Given the description of an element on the screen output the (x, y) to click on. 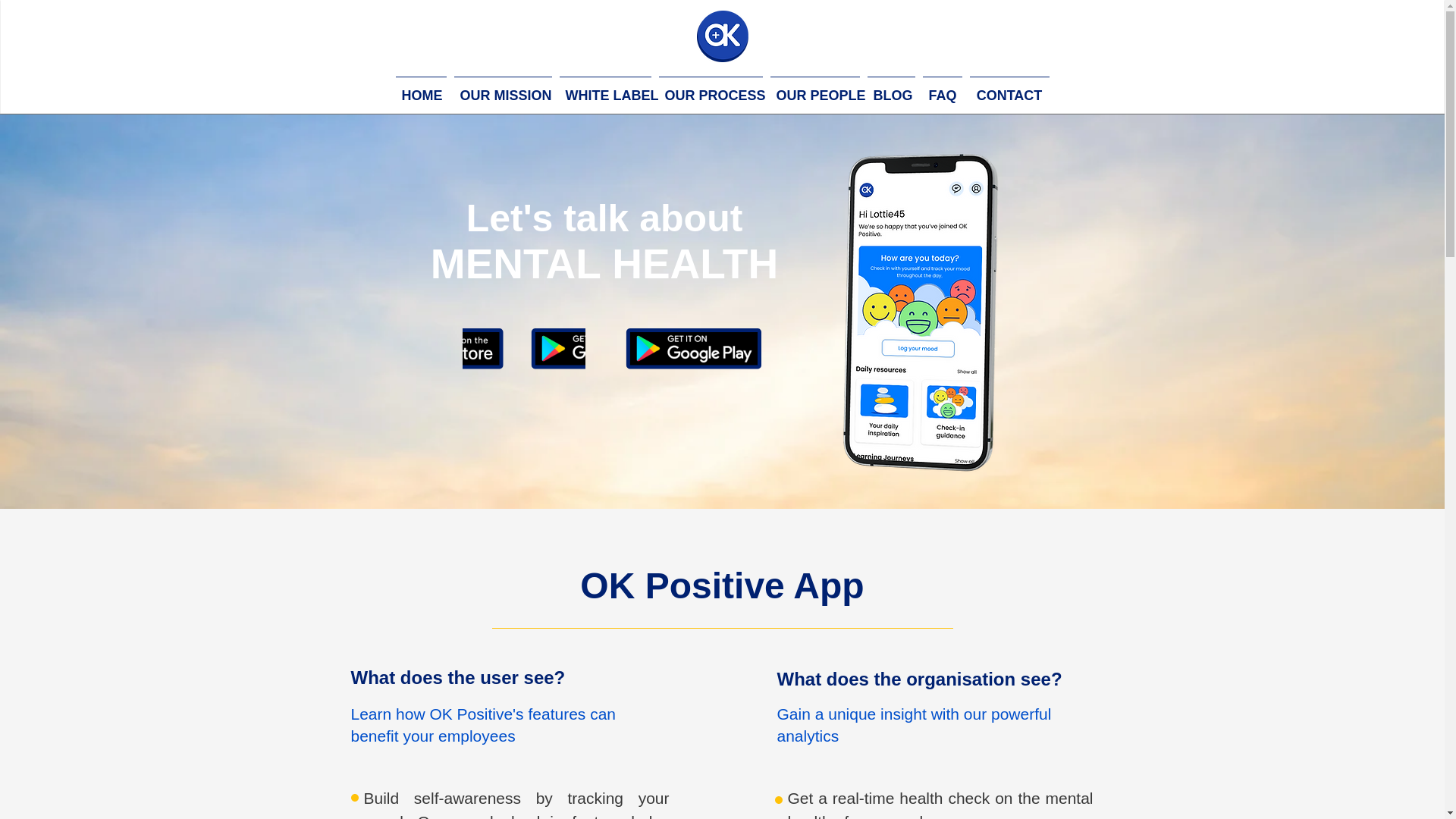
OUR PROCESS (711, 88)
BLOG (890, 88)
HOME (420, 88)
FAQ (942, 88)
OUR PEOPLE (814, 88)
CONTACT (1009, 88)
WHITE LABEL (603, 88)
OUR MISSION (502, 88)
